Given the description of an element on the screen output the (x, y) to click on. 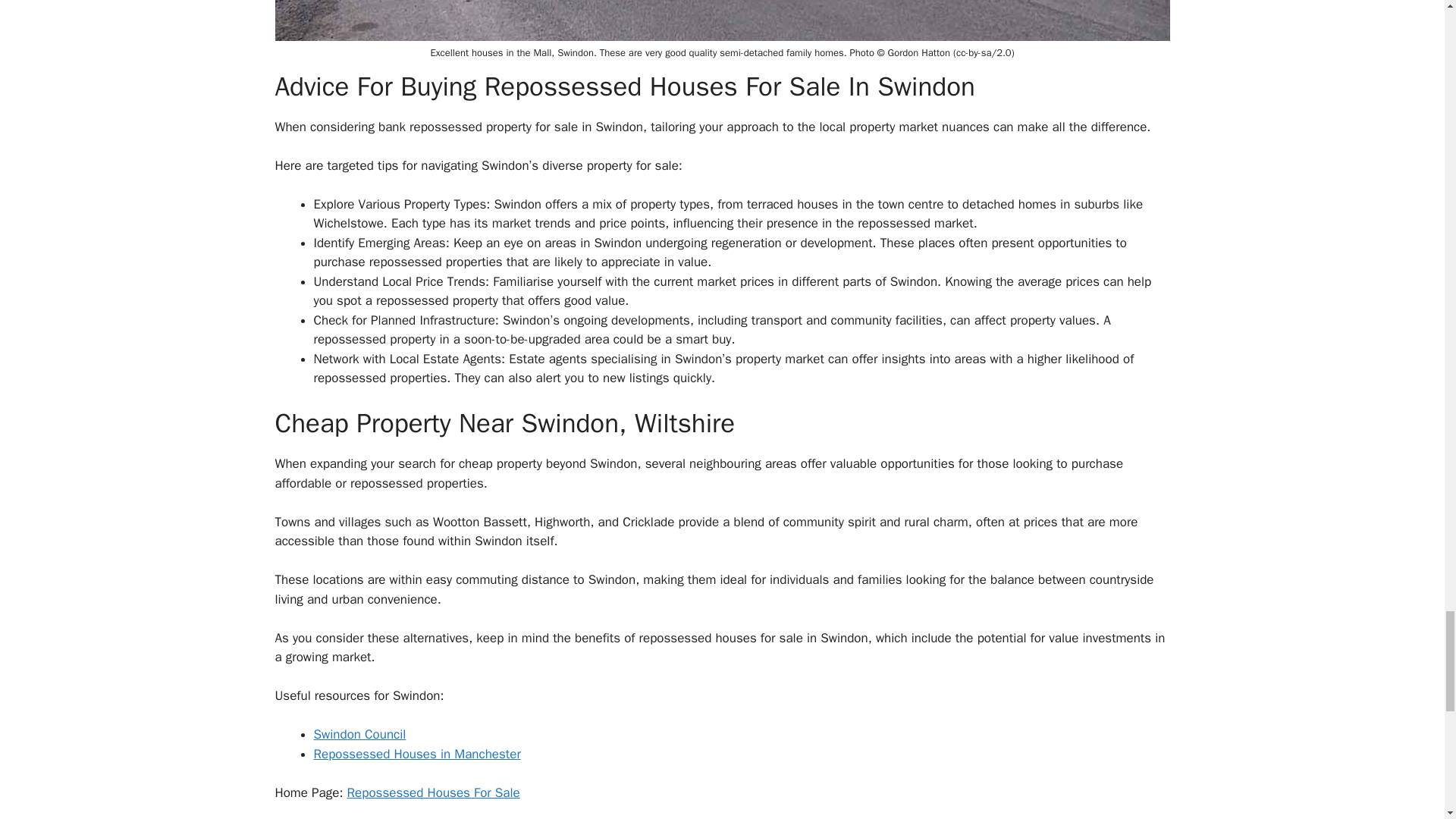
Repossessed Houses For Sale (433, 792)
Repossessed Houses in Manchester (417, 754)
Swindon Council (360, 734)
